Given the description of an element on the screen output the (x, y) to click on. 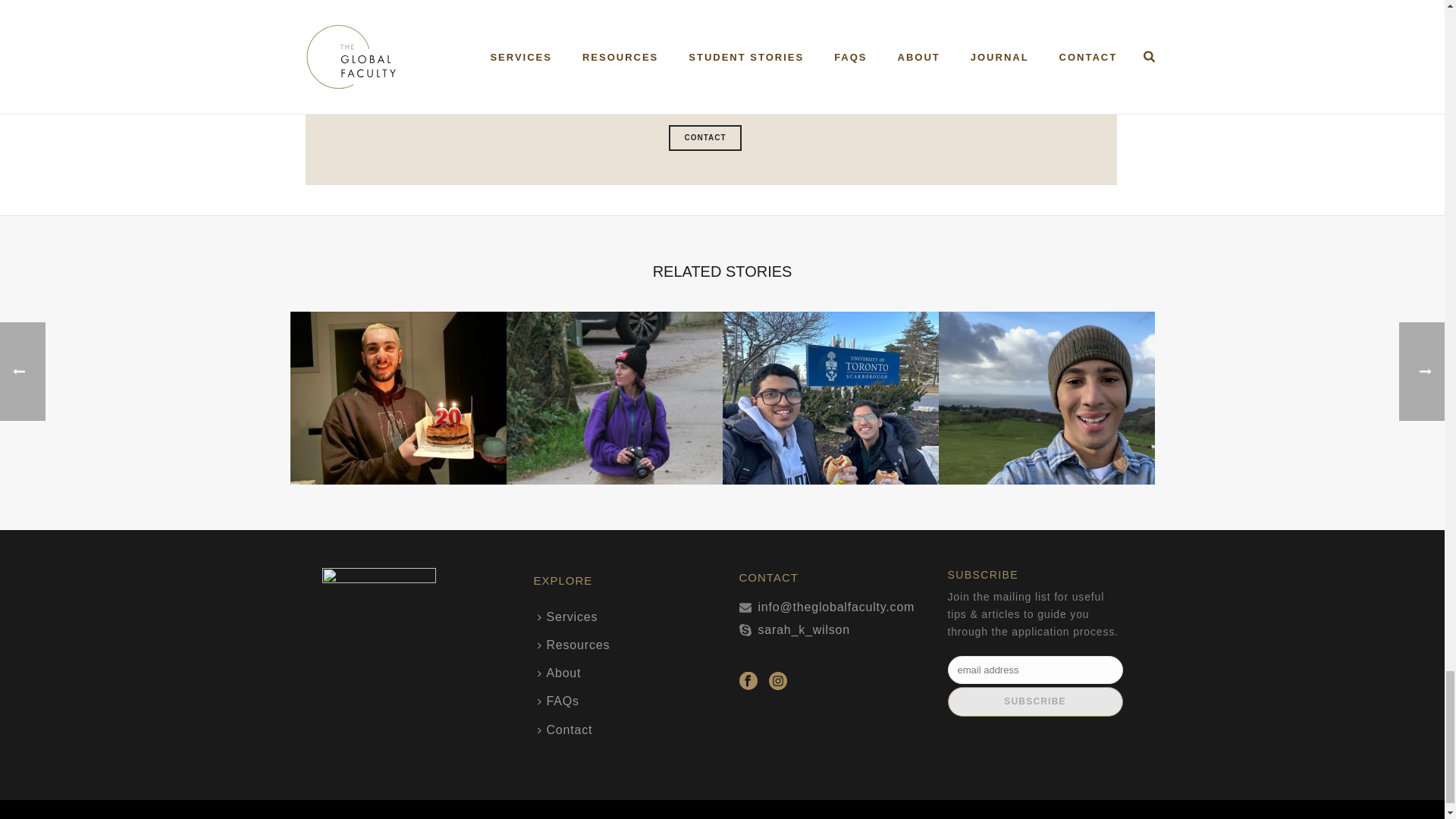
CONTACT (704, 137)
Meet Landon at Aberystwyth University in Wales (1046, 398)
Subscribe (1034, 701)
Meet Rocco at the Willem de Kooning Academy (397, 398)
Meet Swajeet at the University of Toronto (829, 398)
CONTACT (704, 137)
Meet Fallon at the University of Glasgow (614, 398)
Services (572, 616)
